Given the description of an element on the screen output the (x, y) to click on. 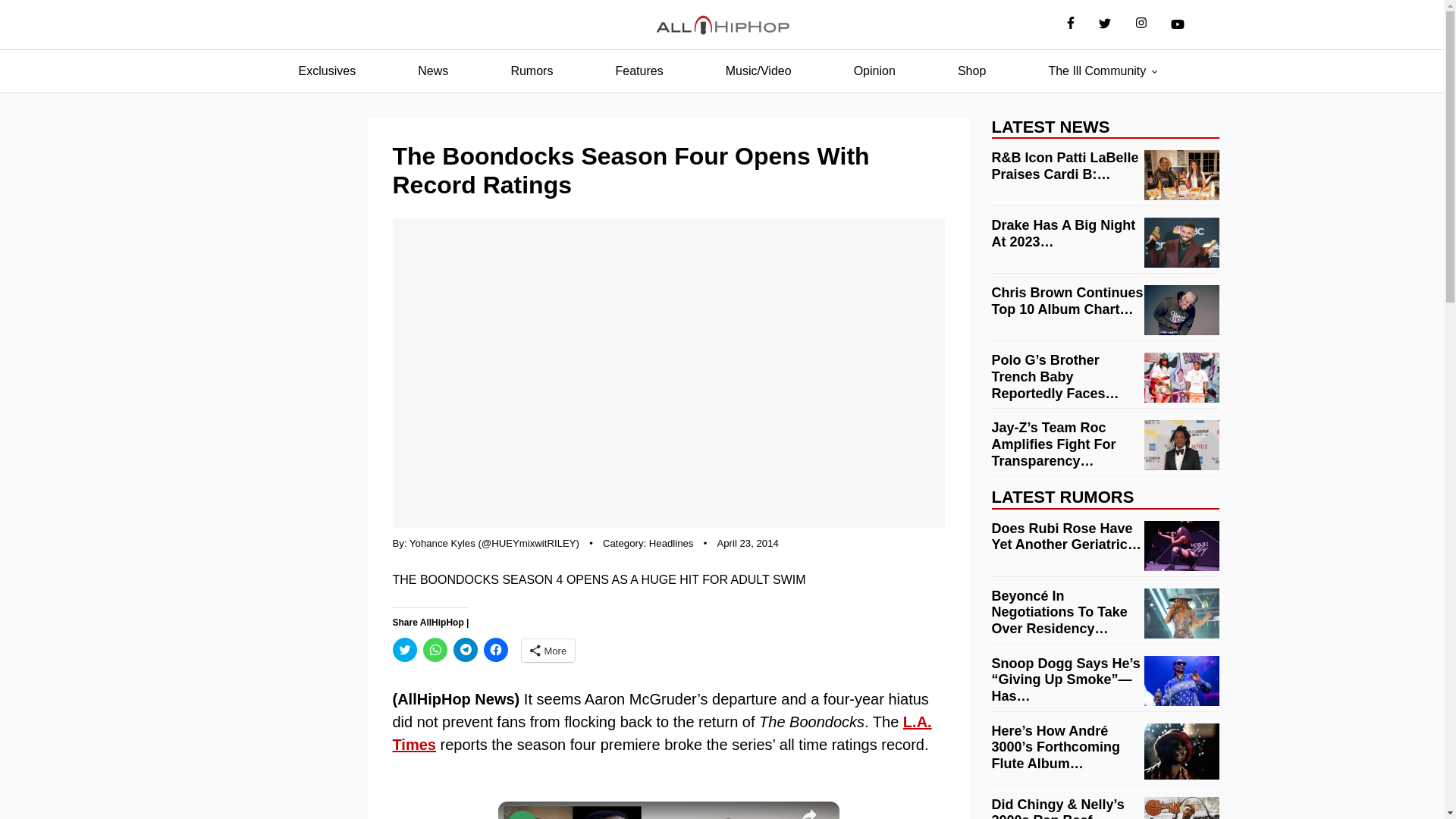
News (433, 70)
Rumors (530, 70)
Exclusives (327, 70)
Click to share on Twitter (404, 649)
Click to share on Telegram (464, 649)
AllHipHop (722, 25)
April 23, 2014 (746, 542)
Headlines (671, 542)
Shop (970, 70)
Click to share on WhatsApp (434, 649)
The Ill Community (1096, 70)
Opinion (874, 70)
Features (638, 70)
Click to share on Facebook (495, 649)
